Given the description of an element on the screen output the (x, y) to click on. 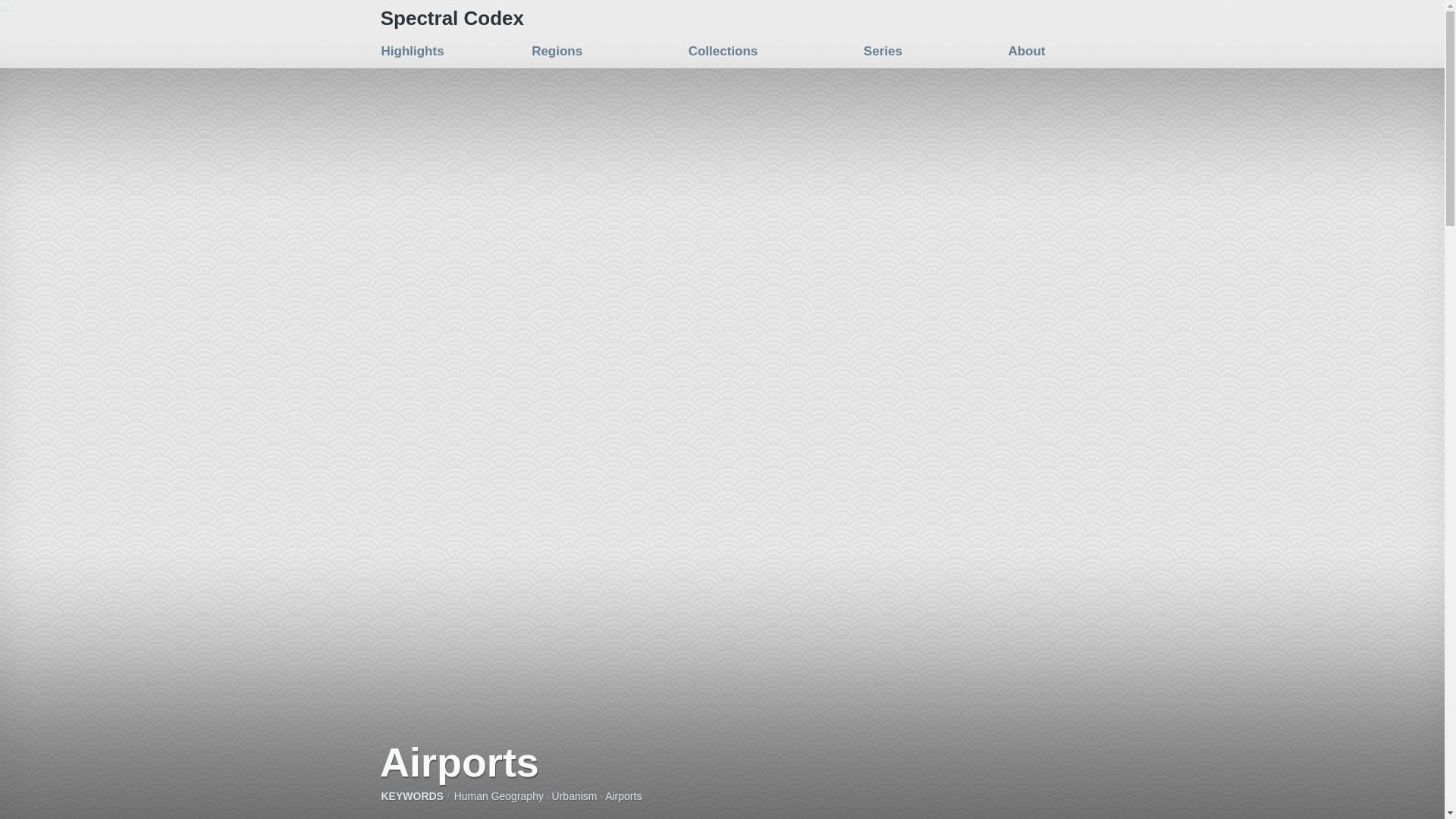
Highlights (411, 50)
Regions (556, 50)
Spectral Codex (452, 17)
Series (882, 50)
Collections (723, 50)
